Given the description of an element on the screen output the (x, y) to click on. 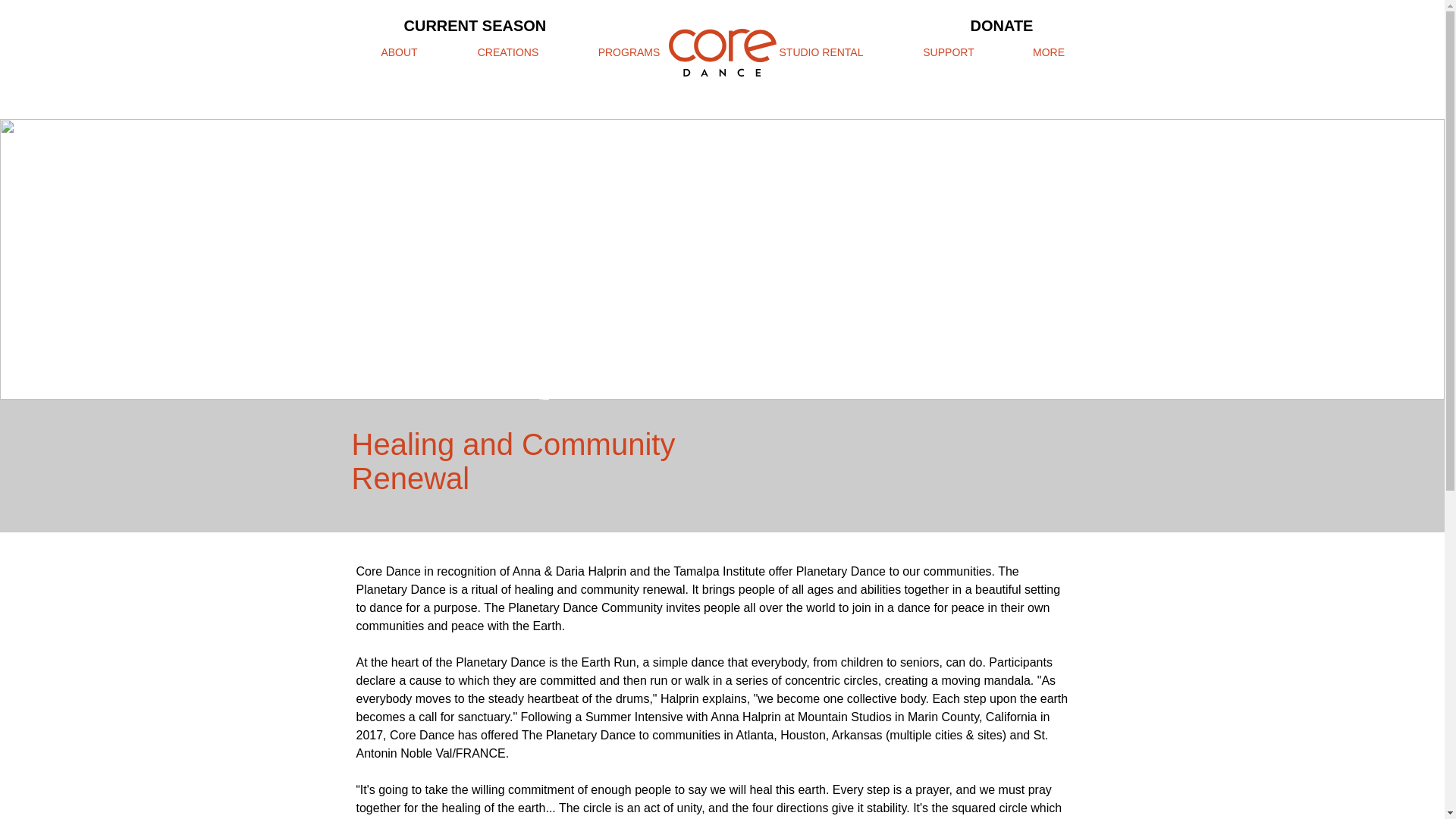
ABOUT (398, 52)
STUDIO RENTAL (821, 52)
SUPPORT (948, 52)
PROGRAMS (629, 52)
DONATE (1002, 24)
. (719, 52)
CURRENT SEASON (474, 24)
CREATIONS (506, 52)
